Given the description of an element on the screen output the (x, y) to click on. 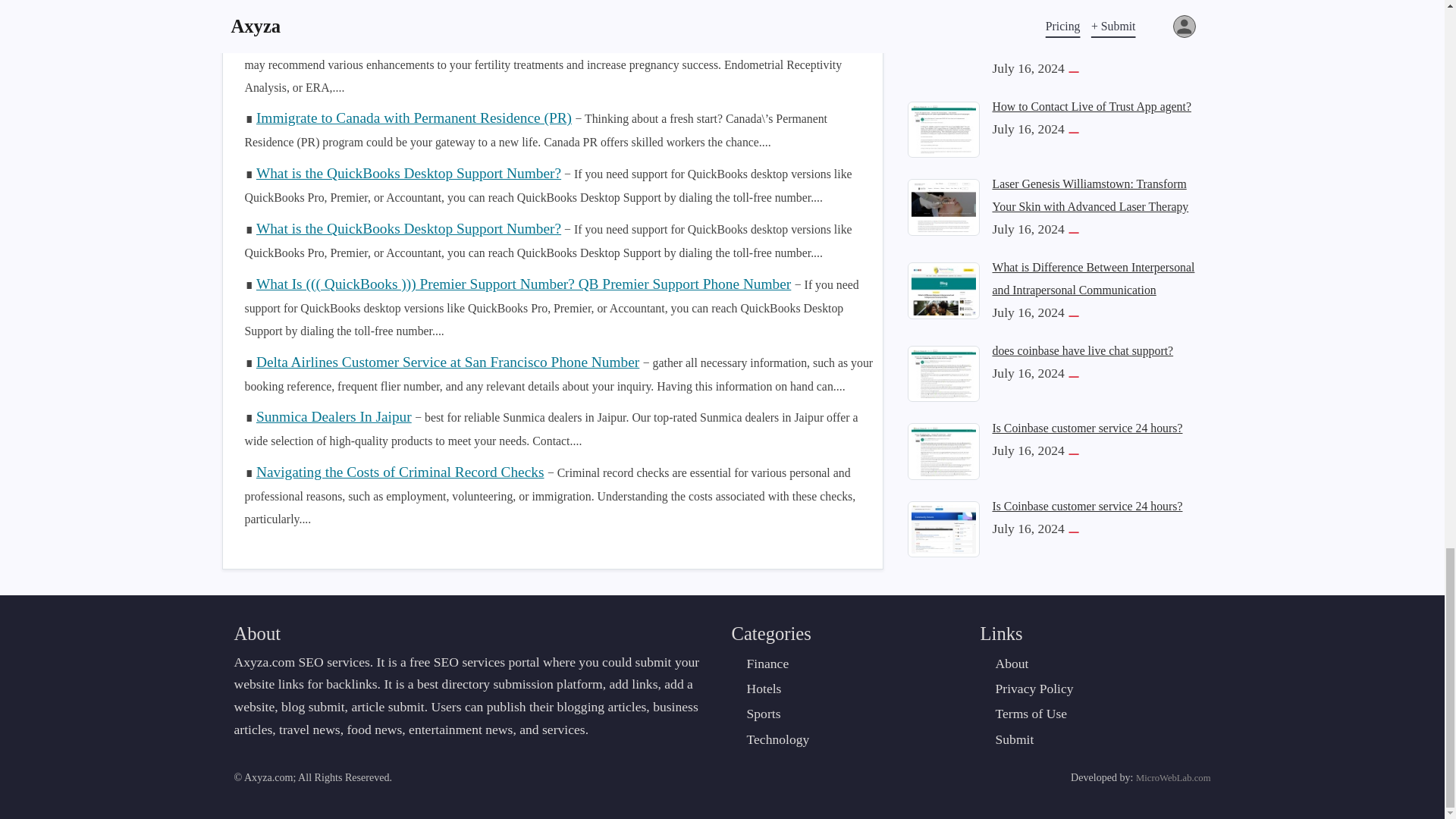
Sunmica Dealers In Jaipur (334, 416)
Navigating the Costs of Criminal Record Checks (400, 471)
